Given the description of an element on the screen output the (x, y) to click on. 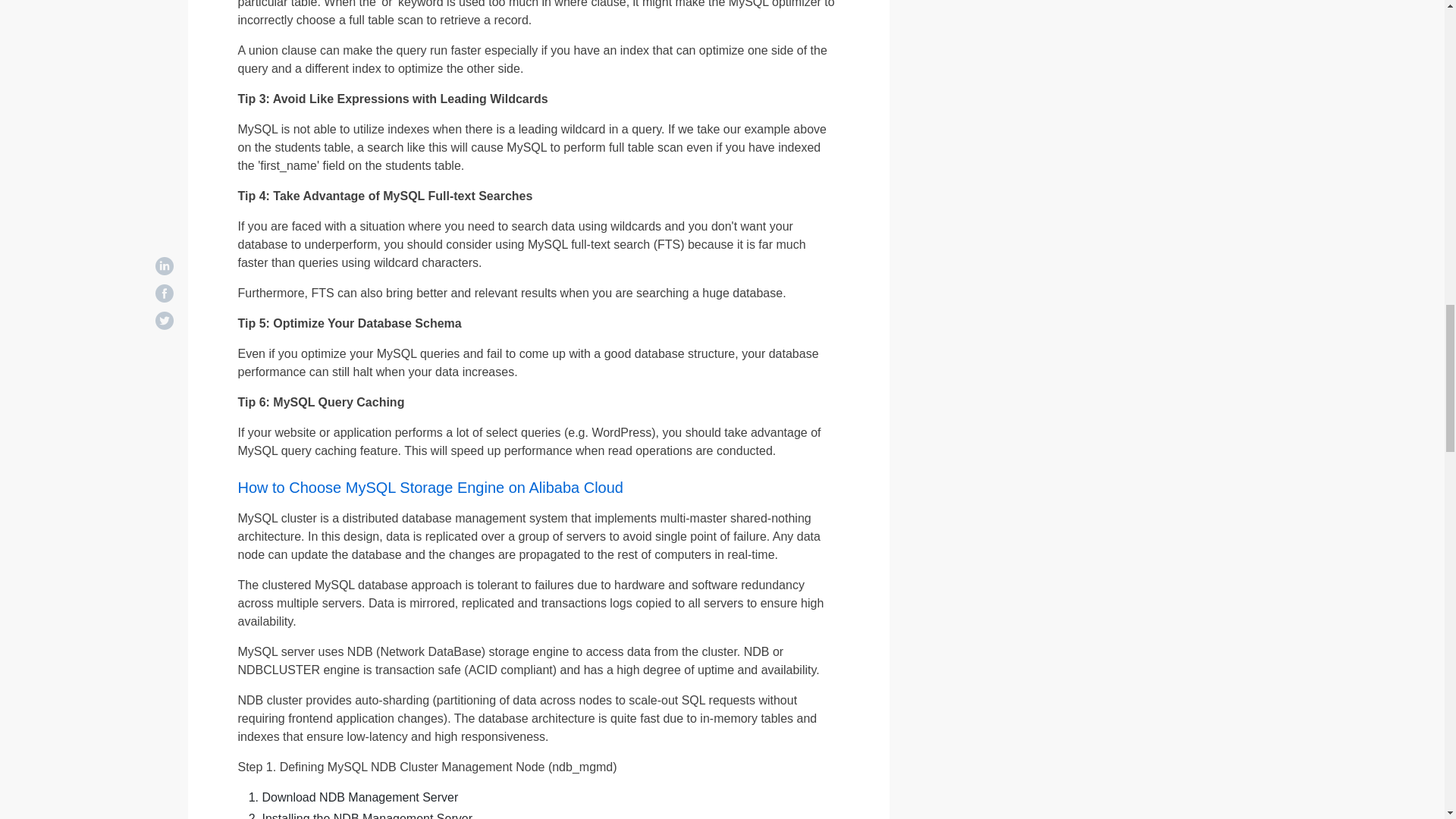
How to Choose MySQL Storage Engine on Alibaba Cloud (430, 487)
